Given the description of an element on the screen output the (x, y) to click on. 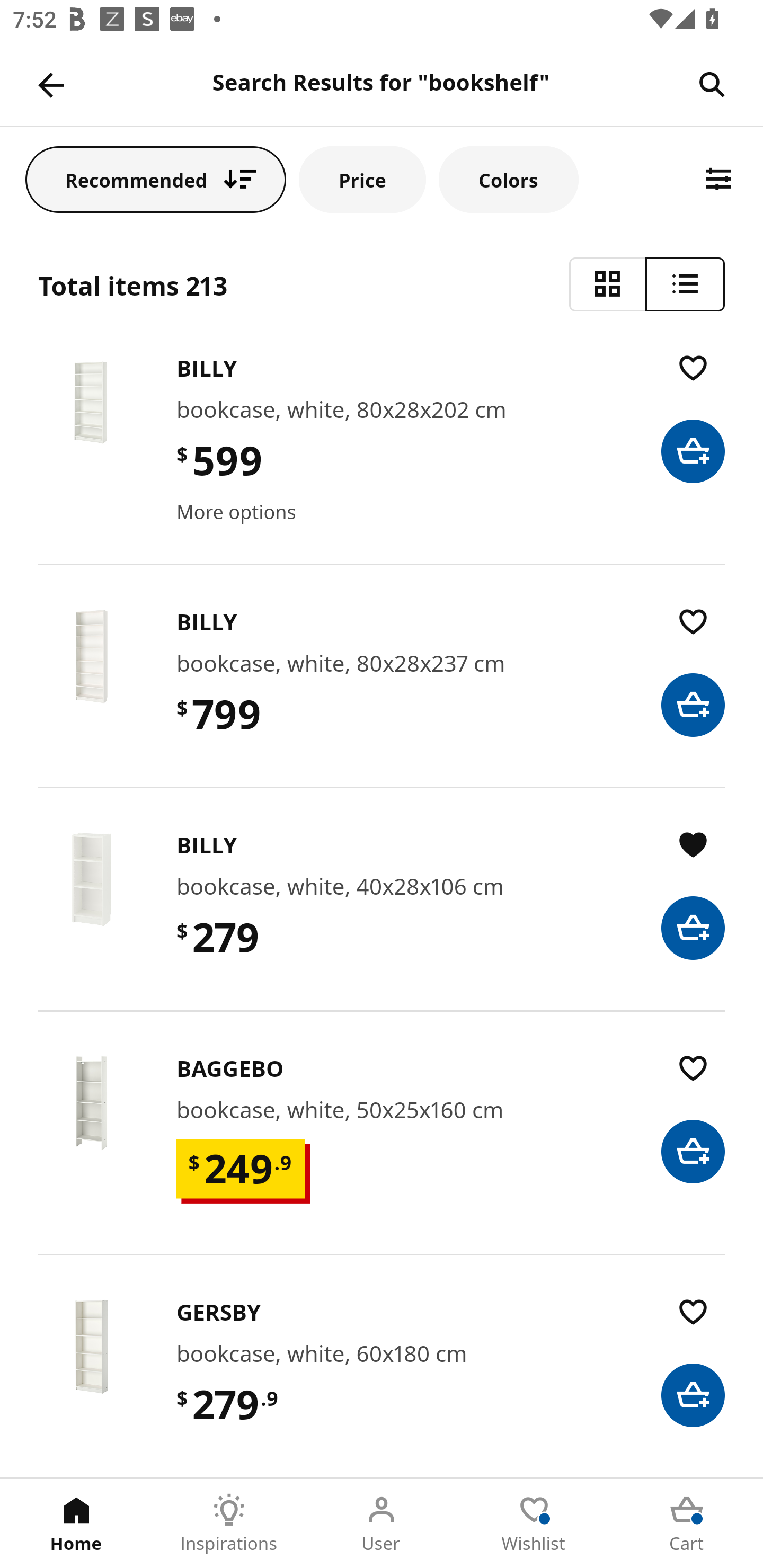
Recommended (155, 179)
Price (362, 179)
Colors (508, 179)
​B​I​L​L​Y​
bookcase, white, 80x28x237 cm
$
799 (381, 695)
​B​I​L​L​Y​
bookcase, white, 40x28x106 cm
$
279 (381, 917)
​G​E​R​S​B​Y​
bookcase, white, 60x180 cm
$
279
.9 (381, 1385)
Home
Tab 1 of 5 (76, 1522)
Inspirations
Tab 2 of 5 (228, 1522)
User
Tab 3 of 5 (381, 1522)
Wishlist
Tab 4 of 5 (533, 1522)
Cart
Tab 5 of 5 (686, 1522)
